Given the description of an element on the screen output the (x, y) to click on. 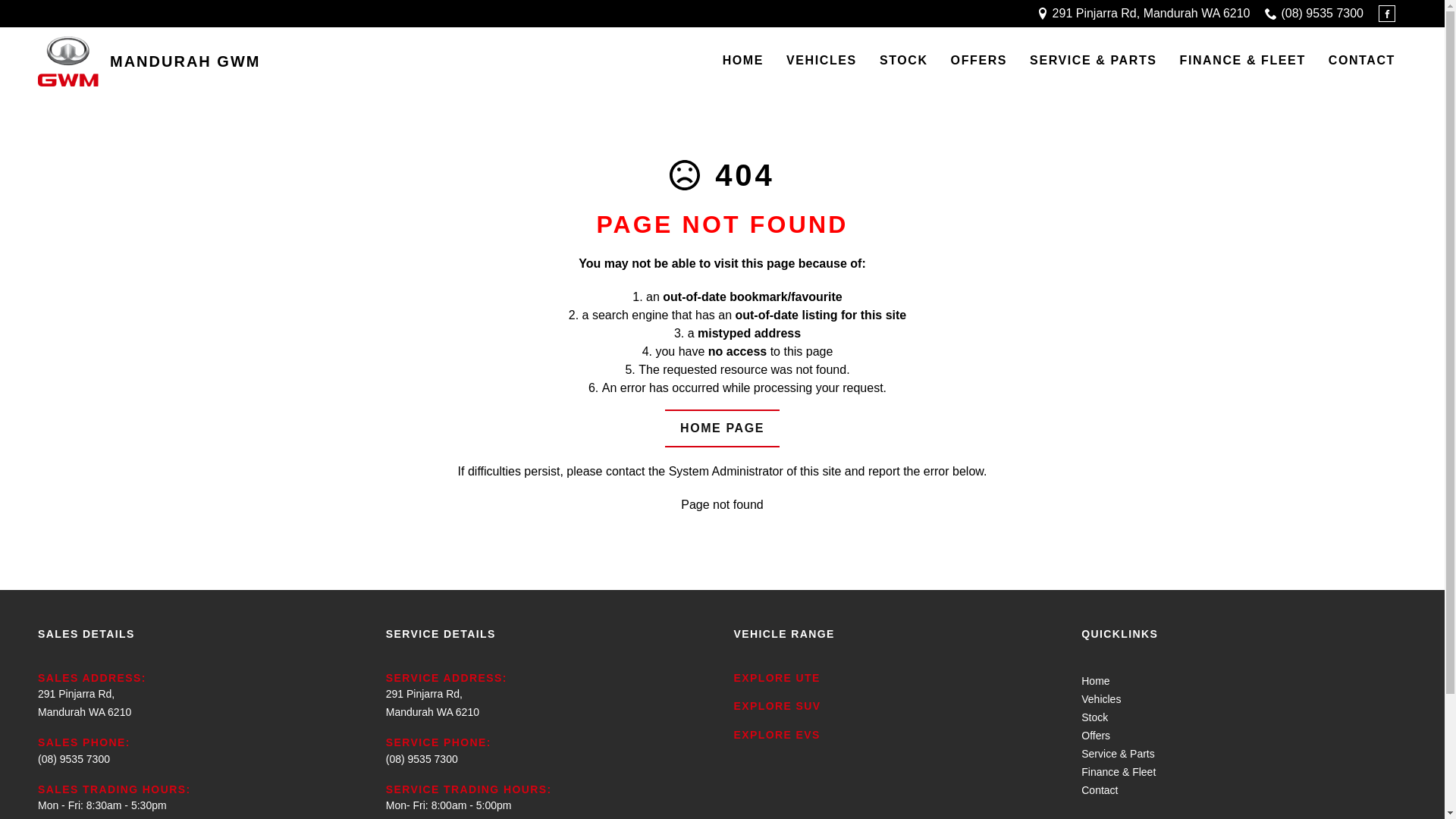
Home Element type: text (1095, 680)
(08) 9535 7300 Element type: text (421, 758)
Offers Element type: text (1095, 735)
Service & Parts Element type: text (1117, 753)
Stock Element type: text (1094, 717)
(08) 9535 7300 Element type: text (1321, 13)
Finance & Fleet Element type: text (1118, 771)
Contact Element type: text (1099, 790)
(08) 9535 7300 Element type: text (73, 758)
CONTACT Element type: text (1361, 61)
Vehicles Element type: text (1100, 699)
HOME Element type: text (743, 61)
MANDURAH GWM Element type: text (148, 61)
OFFERS Element type: text (979, 61)
VEHICLES Element type: text (821, 61)
FINANCE & FLEET Element type: text (1242, 61)
STOCK Element type: text (903, 61)
SERVICE & PARTS Element type: text (1092, 61)
291 Pinjarra Rd, Mandurah WA 6210 Element type: text (1151, 13)
HOME PAGE Element type: text (722, 428)
